Given the description of an element on the screen output the (x, y) to click on. 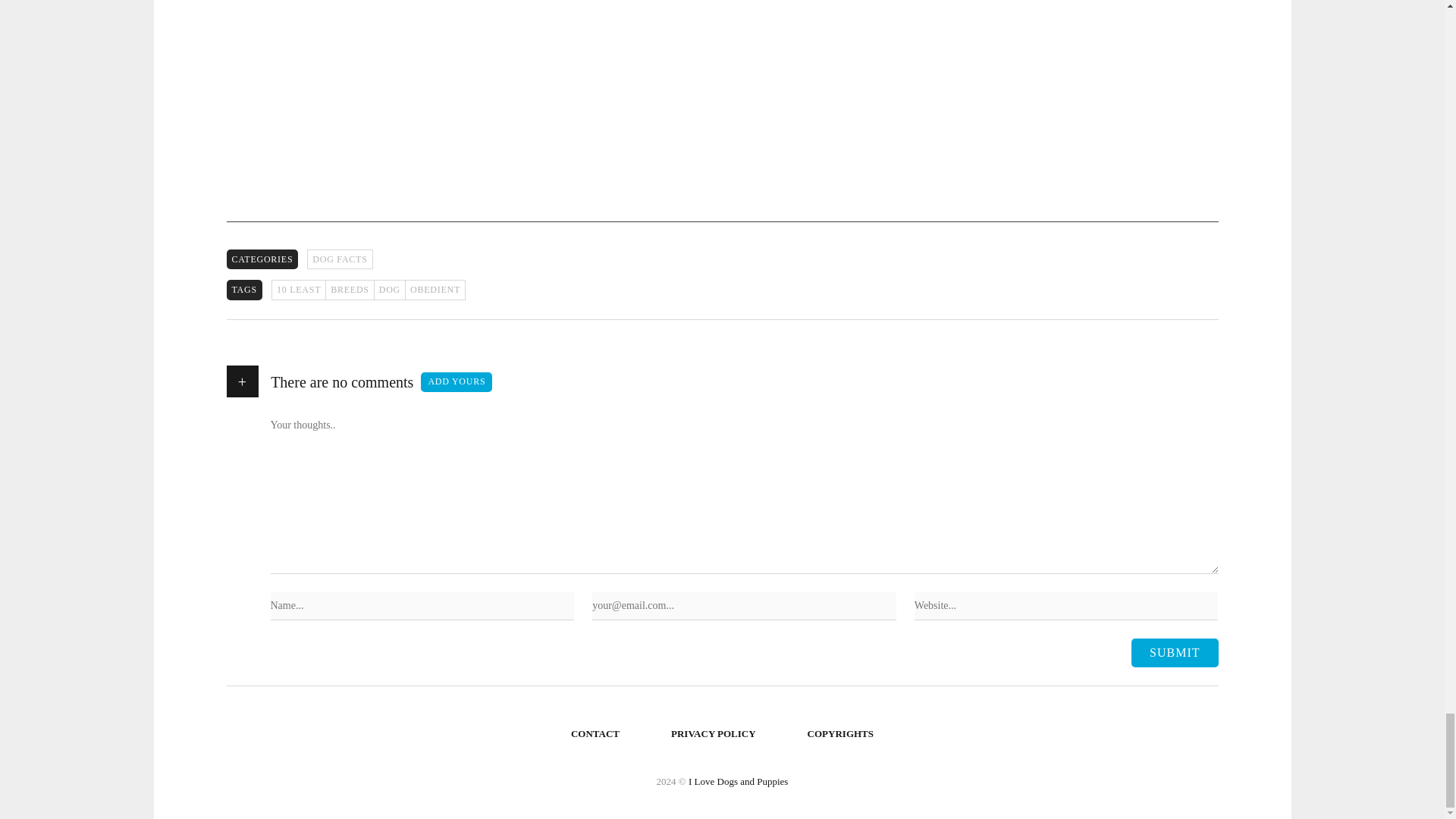
COPYRIGHTS (839, 733)
CONTACT (595, 733)
View all posts tagged Obedient (434, 289)
PRIVACY POLICY (714, 733)
View all posts tagged Dog (389, 289)
DOG (389, 289)
DOG FACTS (339, 259)
View all posts tagged 10 Least (297, 289)
I Love Dogs and Puppies (737, 781)
Submit (1174, 652)
View all posts in Dog Facts (339, 259)
ADD YOURS (456, 382)
10 LEAST (297, 289)
BREEDS (349, 289)
View all posts tagged Breeds (349, 289)
